Given the description of an element on the screen output the (x, y) to click on. 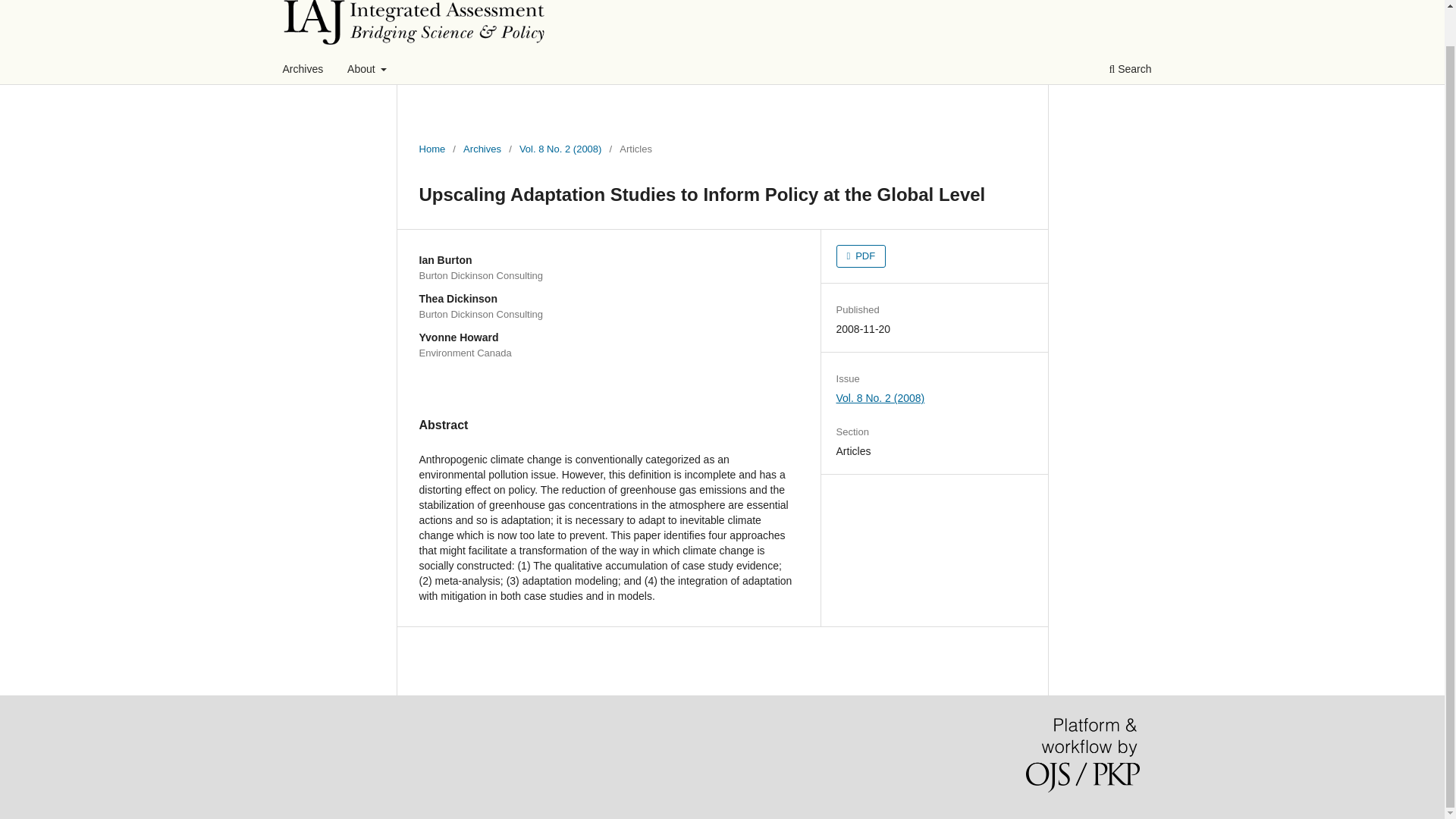
Home (432, 149)
Search (1129, 70)
Archives (481, 149)
PDF (860, 255)
Archives (303, 70)
About (366, 70)
